Given the description of an element on the screen output the (x, y) to click on. 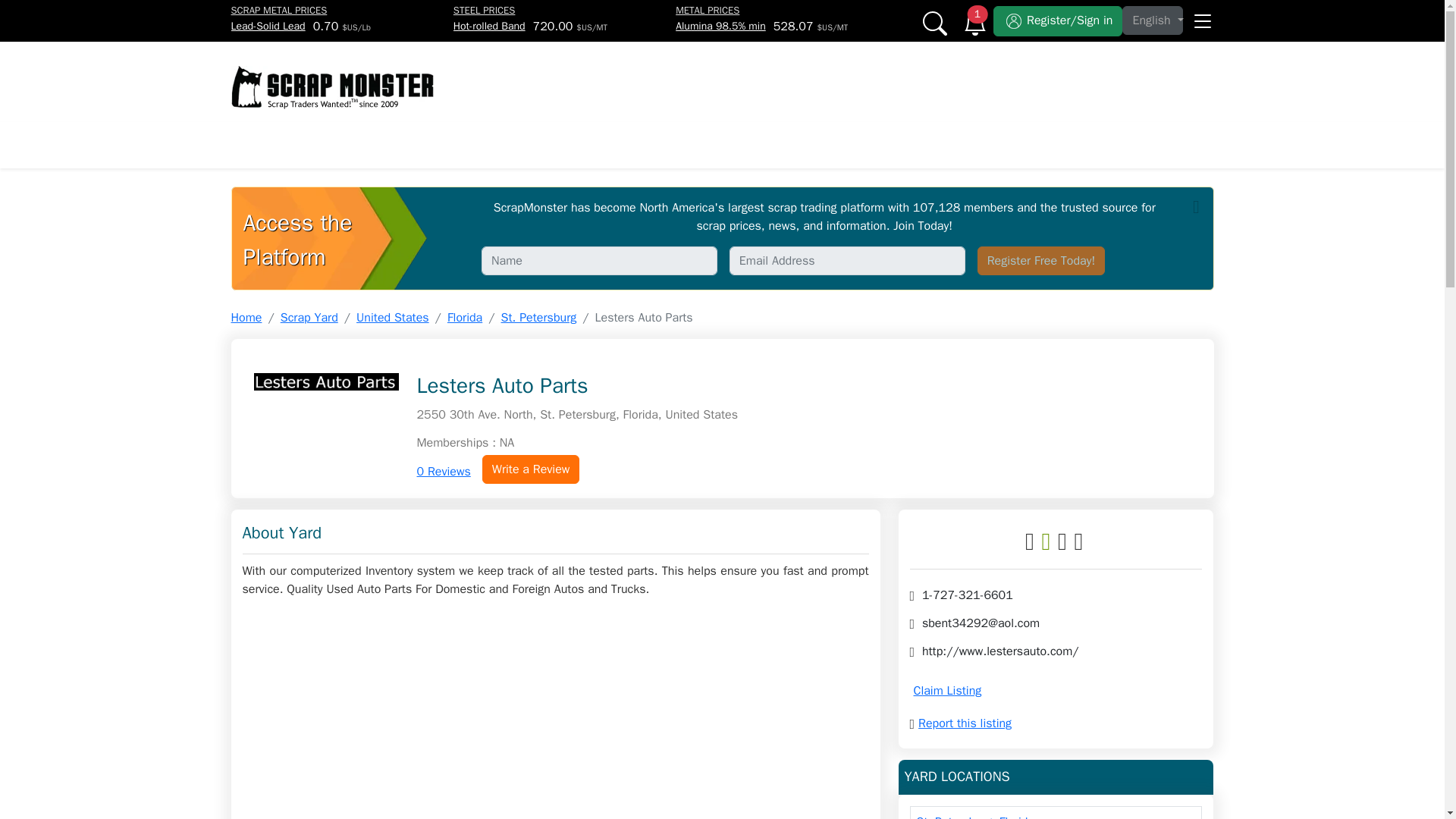
Advertisement (1035, 70)
SCRAP METAL PRICES (382, 144)
HOME (269, 144)
STEEL PRICES (483, 10)
NEWS (491, 144)
English (1152, 20)
Yard Finder (967, 144)
SCRAP METAL PRICES (278, 10)
Open Menu (1201, 15)
Open Menu (1201, 15)
